Given the description of an element on the screen output the (x, y) to click on. 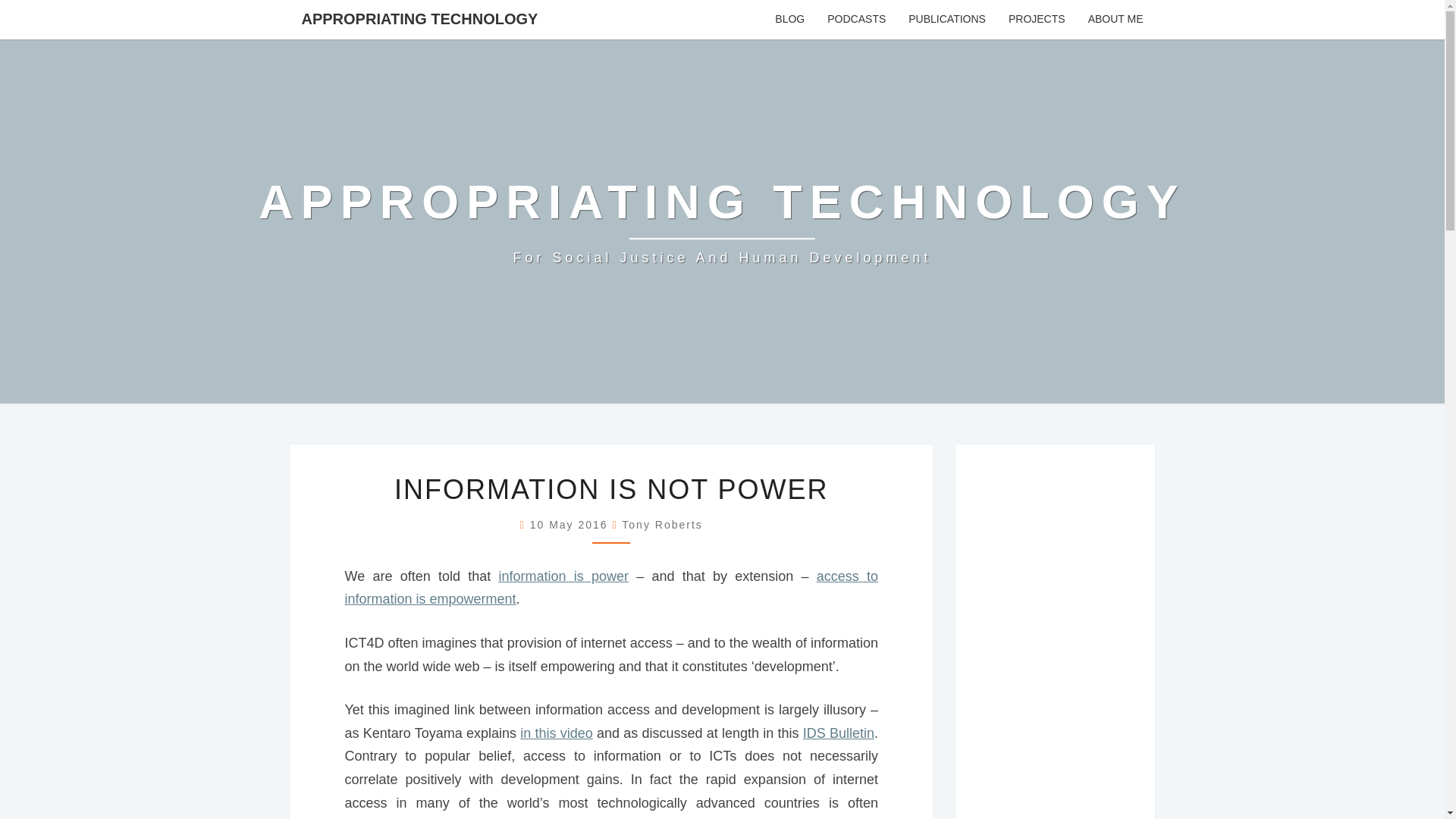
10 May 2016 (570, 524)
information is power (562, 575)
APPROPRIATING TECHNOLOGY (418, 18)
in this video (555, 733)
Appropriating Technology (722, 221)
17:08 (570, 524)
BLOG (788, 19)
access to information is empowerment (610, 587)
PODCASTS (855, 19)
PUBLICATIONS (946, 19)
Tony Roberts (661, 524)
View all posts by Tony Roberts (661, 524)
ABOUT ME (1115, 19)
PROJECTS (1037, 19)
